Given the description of an element on the screen output the (x, y) to click on. 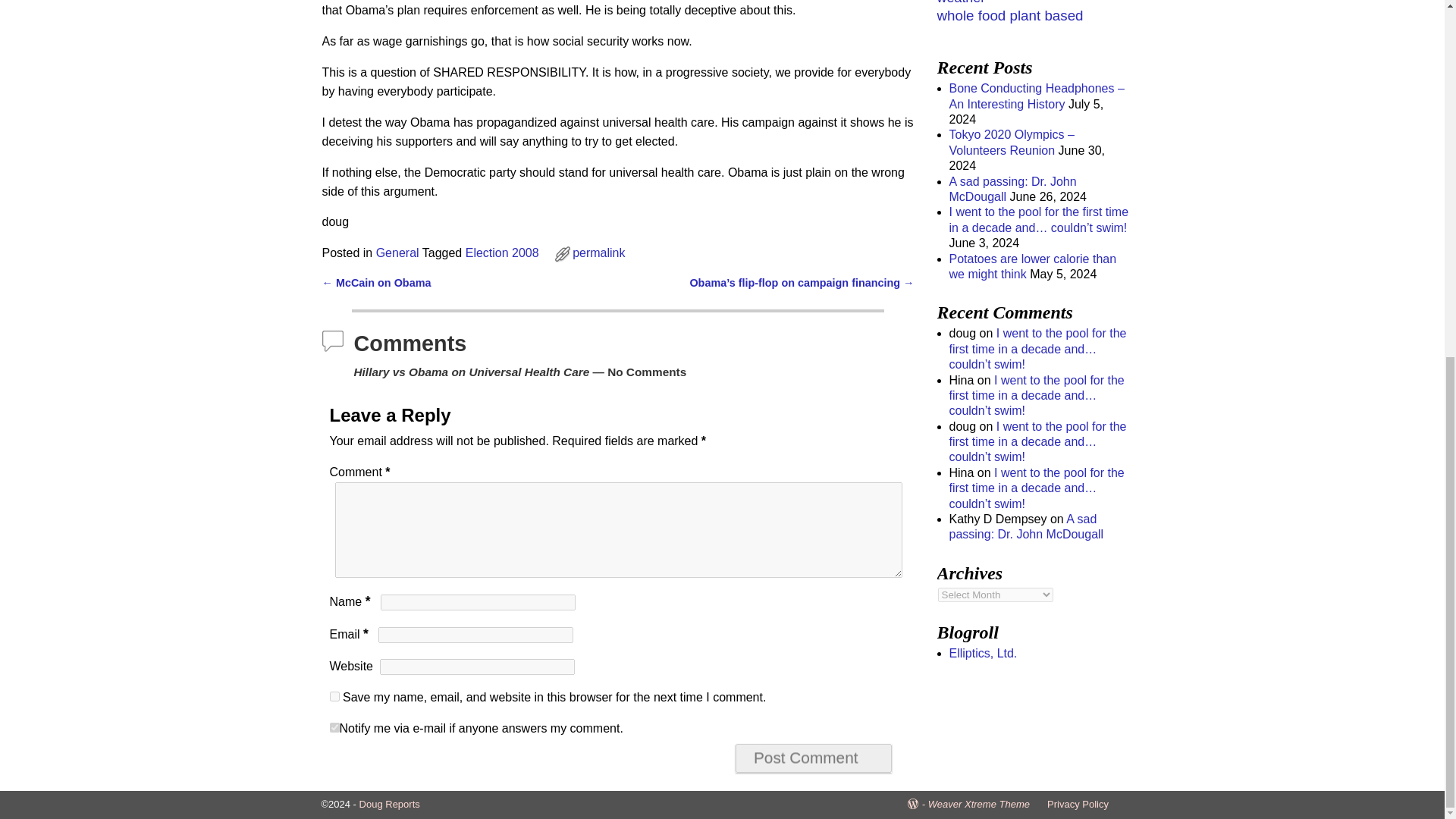
on (334, 727)
Weaver Xtreme Theme (978, 803)
Elliptics home page (983, 653)
Post Comment (813, 758)
yes (334, 696)
Proudly powered by WordPress (917, 803)
Doug Reports (389, 803)
Permalink to Hillary vs Obama on Universal Health Care (598, 252)
Election 2008 (501, 252)
permalink (598, 252)
General (397, 252)
Post Comment (813, 758)
